Given the description of an element on the screen output the (x, y) to click on. 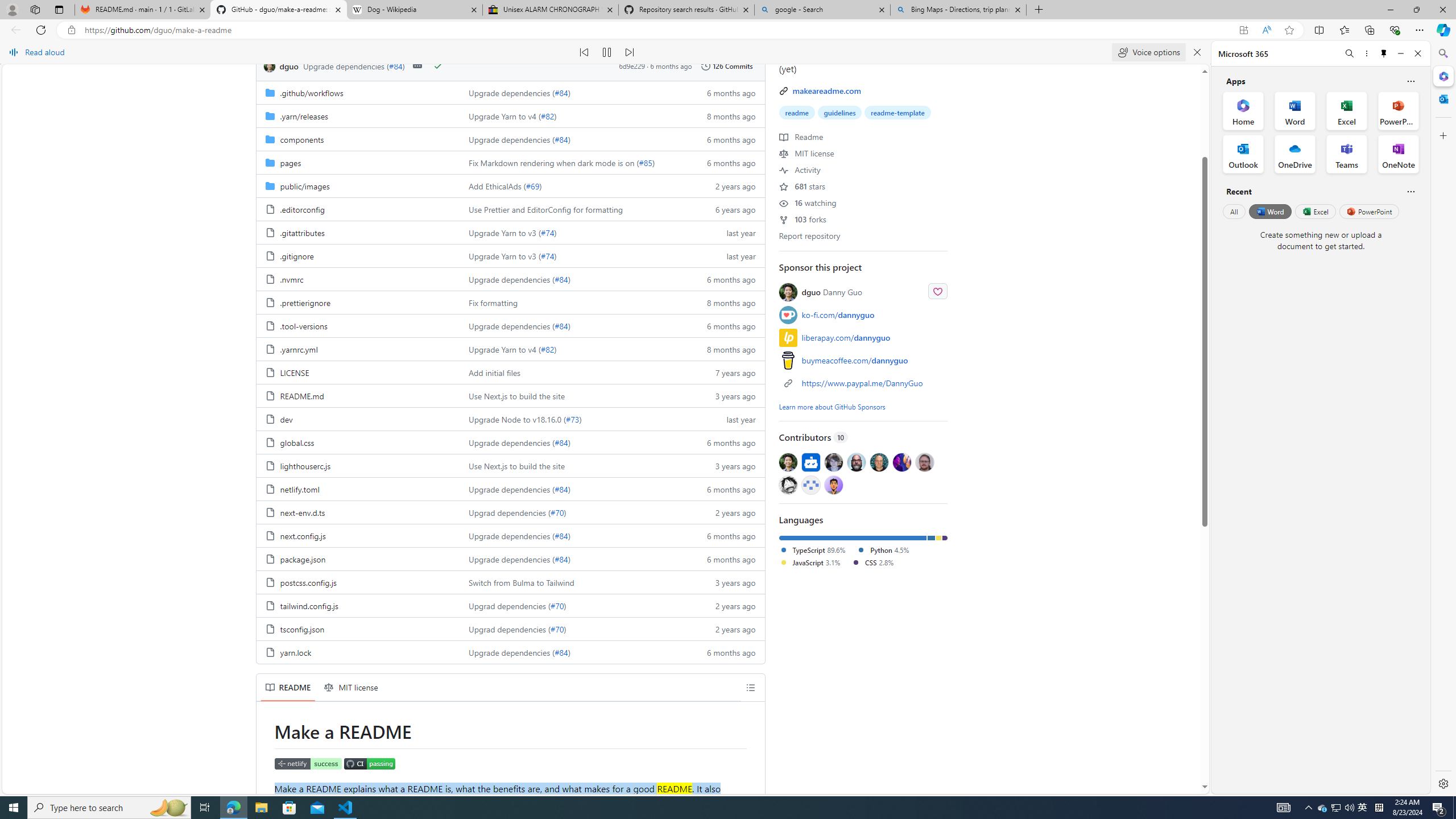
) (568, 652)
Switch from Bulma to Tailwind (521, 582)
Upgrad dependencies ( (509, 628)
Word (1269, 210)
Add initial files (573, 372)
103 forks (802, 218)
.prettierignore, (File) (358, 301)
Customize (1442, 135)
https://www.paypal.me/DannyGuo (862, 382)
public/images, (Directory) (358, 185)
Add EthicalAds ( (496, 185)
@sy-records (787, 484)
6 years ago (725, 208)
@aranciokov (924, 461)
